Given the description of an element on the screen output the (x, y) to click on. 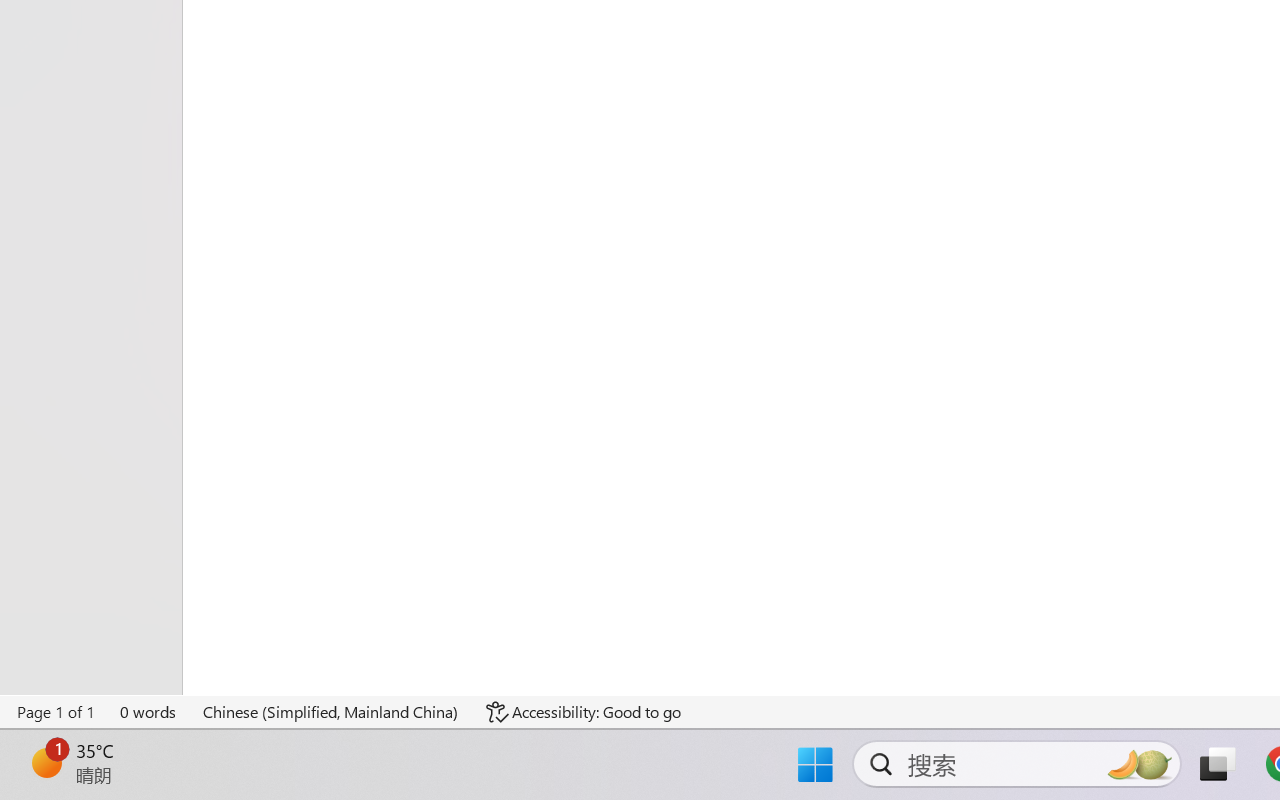
Language Chinese (Simplified, Mainland China) (331, 712)
